Given the description of an element on the screen output the (x, y) to click on. 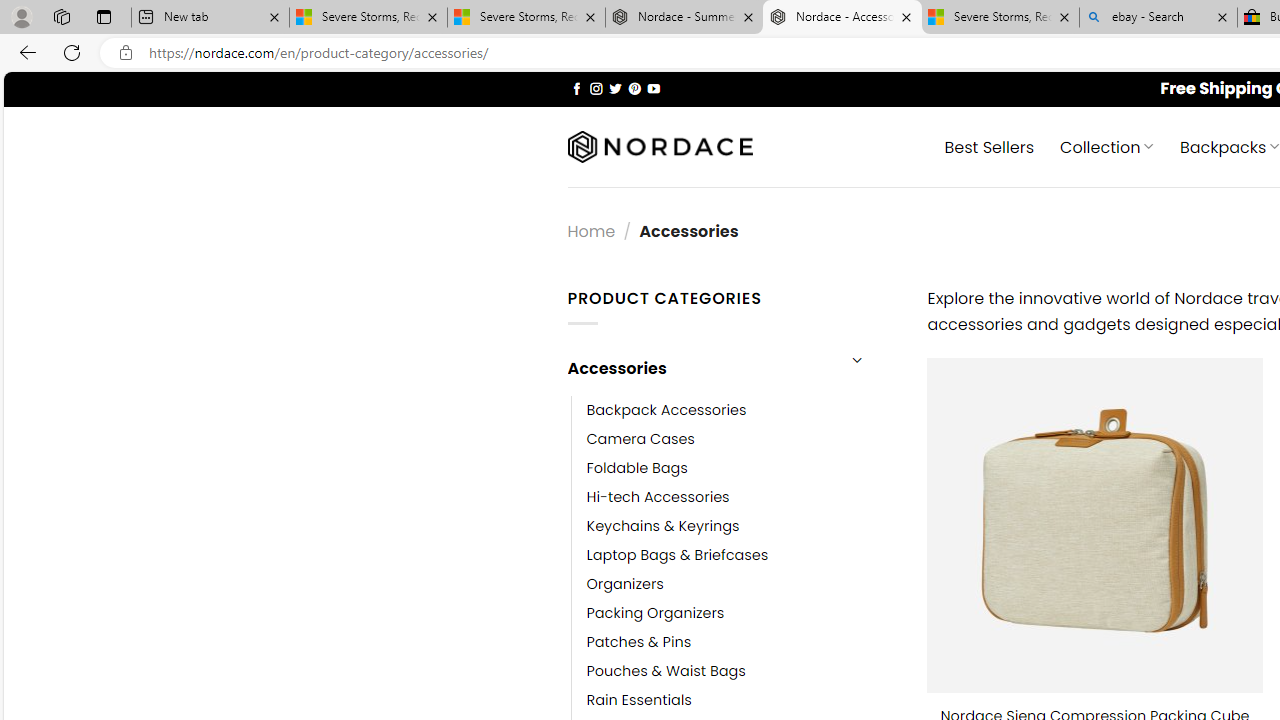
Follow on Pinterest (634, 88)
Follow on Facebook (576, 88)
Refresh (72, 52)
Nordace (659, 147)
Nordace - Accessories (842, 17)
Nordace - Summer Adventures 2024 (683, 17)
Follow on YouTube (653, 88)
Laptop Bags & Briefcases (742, 555)
Rain Essentials (742, 700)
Nordace (659, 147)
Pouches & Waist Bags (742, 671)
ebay - Search (1158, 17)
